Given the description of an element on the screen output the (x, y) to click on. 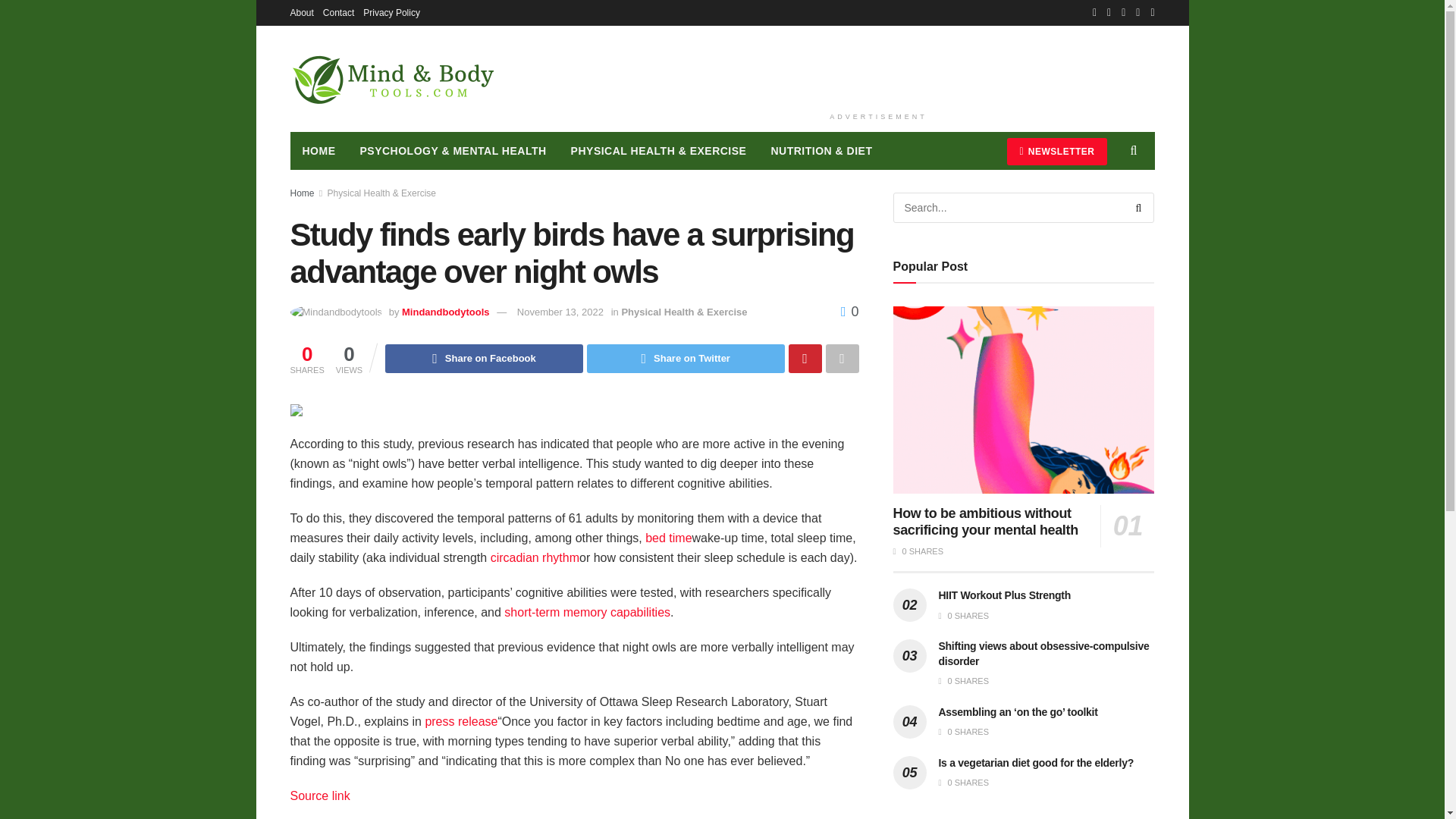
Privacy Policy (391, 12)
bed time (668, 537)
About (301, 12)
circadian rhythm (534, 557)
Home (301, 193)
November 13, 2022 (560, 311)
Share on Facebook (484, 358)
Contact (338, 12)
Source link (319, 795)
Share on Twitter (685, 358)
NEWSLETTER (1056, 151)
Mindandbodytools (445, 311)
HOME (318, 150)
Advertisement (878, 65)
0 (850, 311)
